Given the description of an element on the screen output the (x, y) to click on. 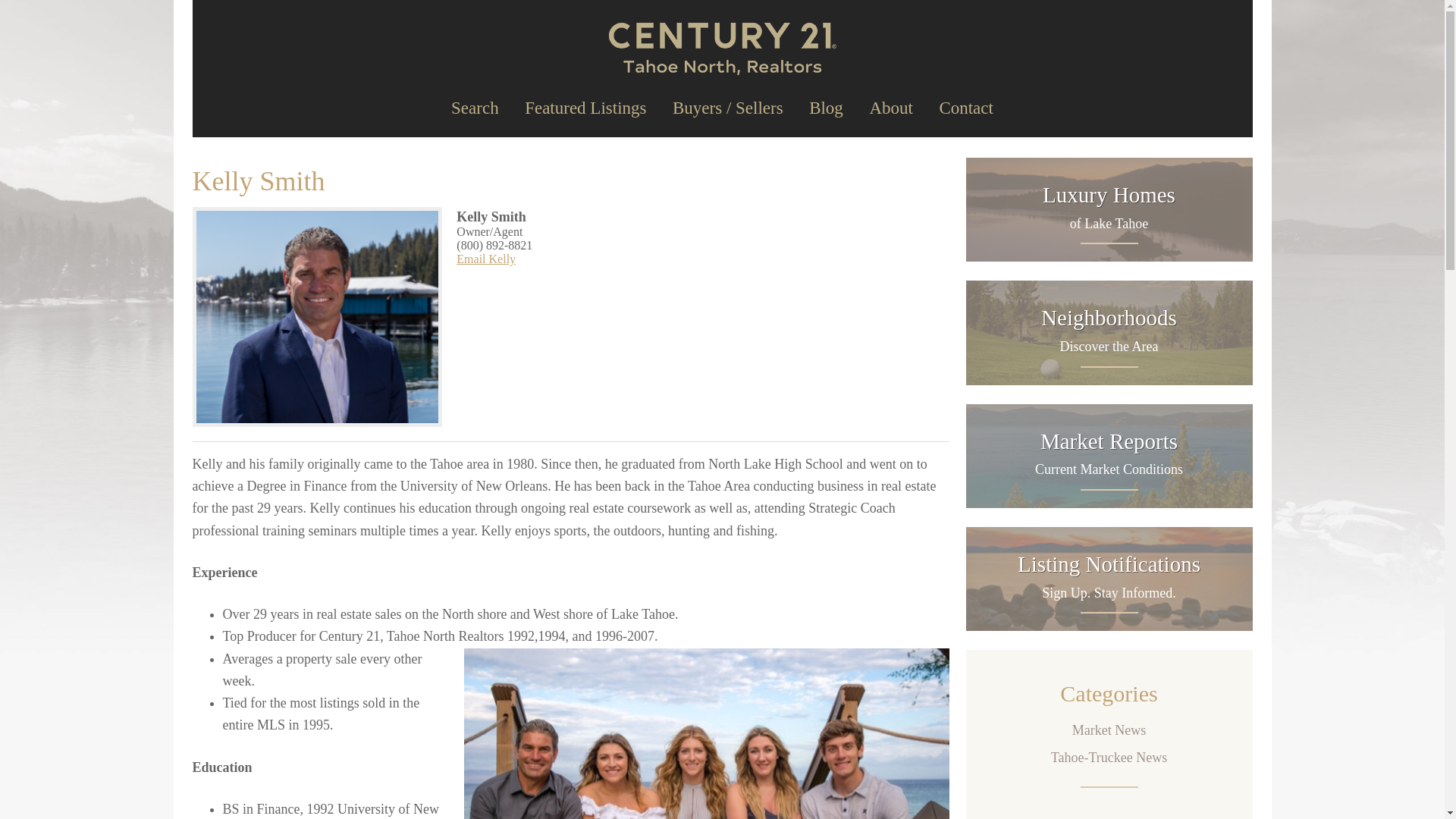
Contact (1109, 578)
Email Kelly (1109, 332)
Featured Listings (965, 110)
Blog (486, 258)
Tahoe-Truckee News (585, 110)
Search (826, 110)
About (1109, 757)
Market News (1109, 455)
